Given the description of an element on the screen output the (x, y) to click on. 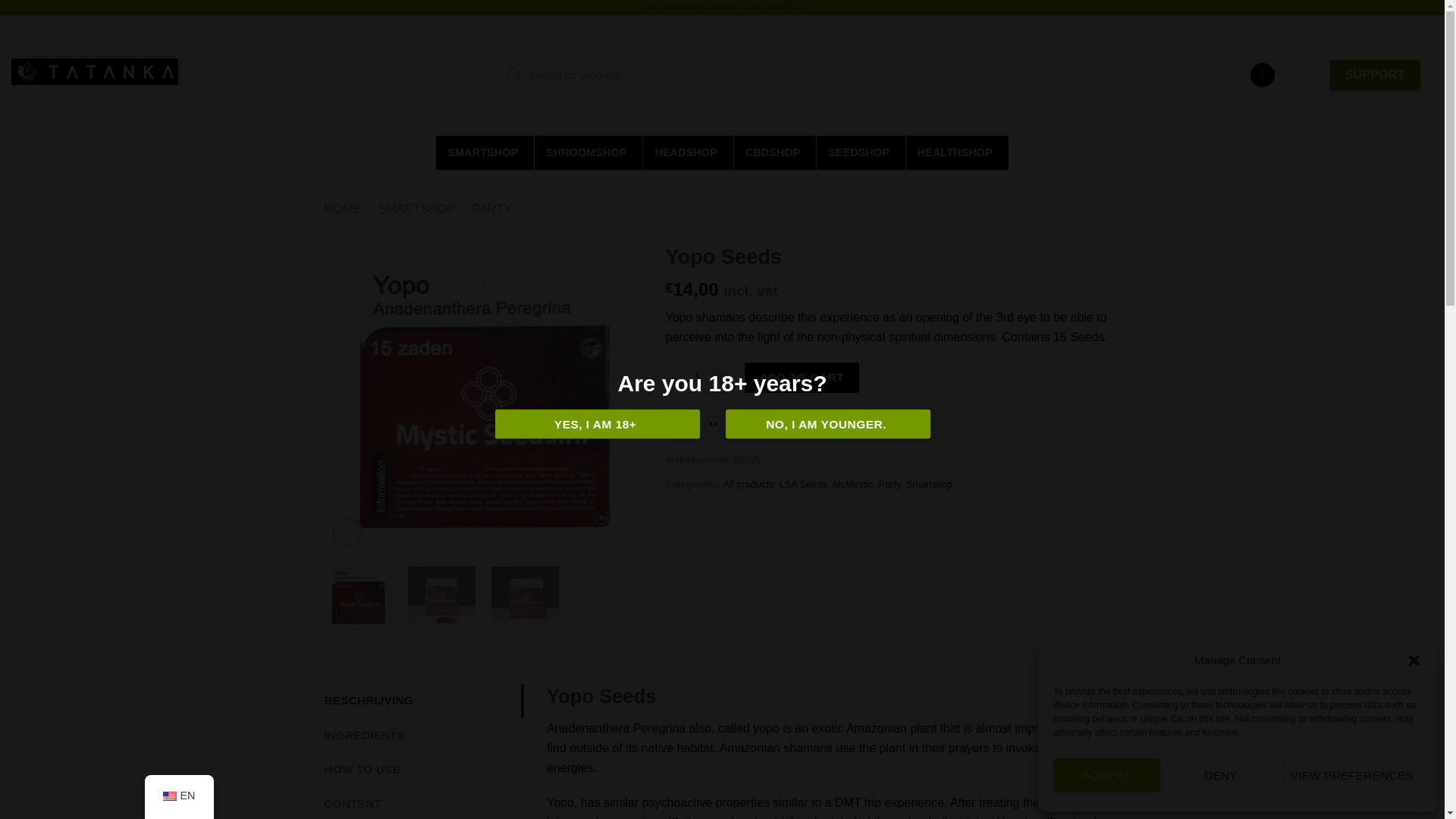
ACCEPT (1106, 775)
Zoom (347, 531)
VIEW PREFERENCES (1352, 775)
English (168, 795)
DENY (1221, 775)
No, I am younger.  (827, 423)
Yopo Seeds - Tatanka.nl (483, 393)
Yopo Seeds - Tatanka.nl (524, 594)
Yopo Seeds - Tatanka.nl (440, 594)
1 (697, 377)
